Given the description of an element on the screen output the (x, y) to click on. 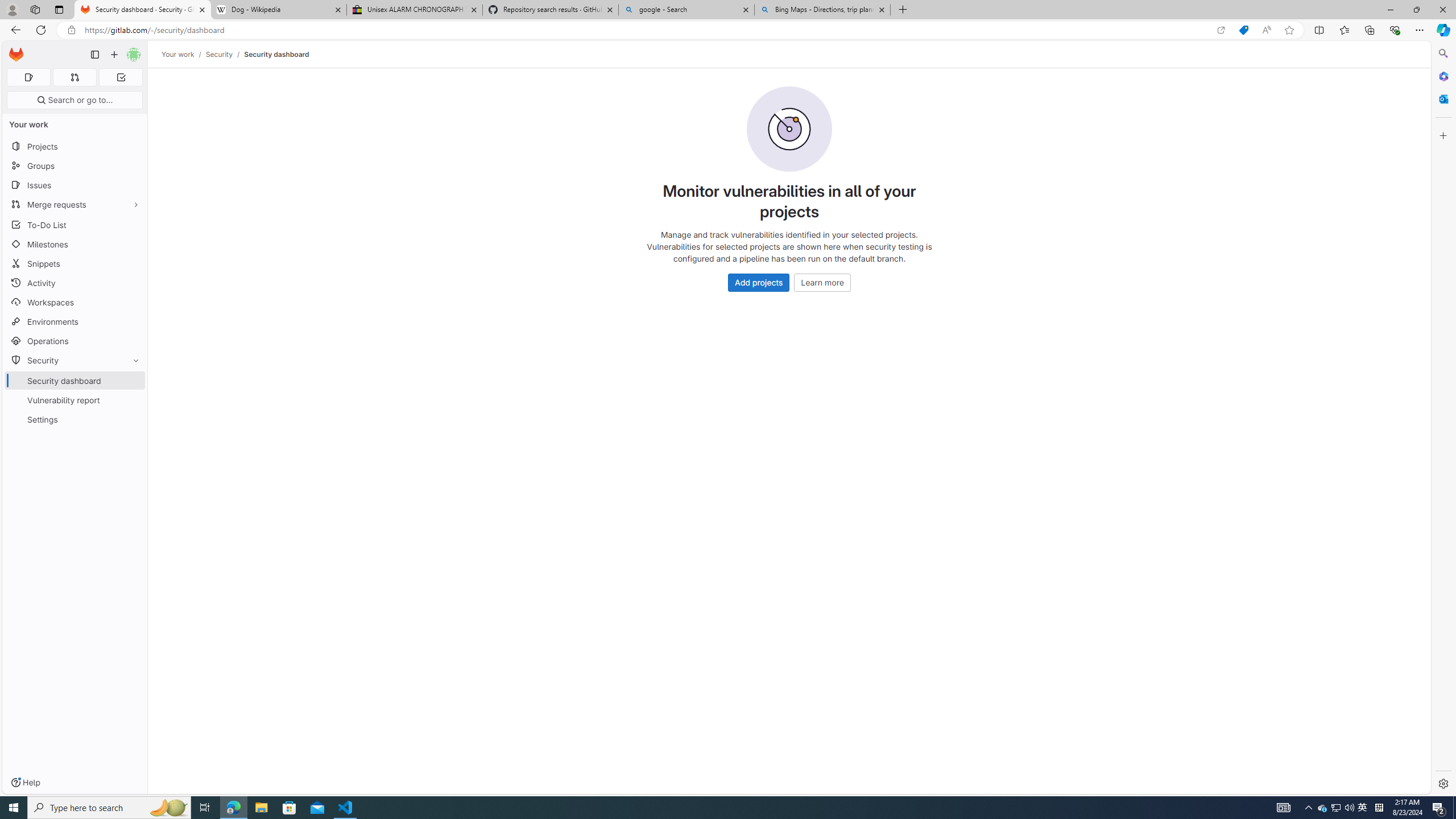
Security/ (224, 53)
Add projects (759, 282)
Merge requests (74, 203)
Issues (74, 185)
Assigned issues 0 (28, 76)
Primary navigation sidebar (94, 54)
SecuritySecurity dashboardVulnerability reportSettings (74, 389)
Groups (74, 165)
Projects (74, 145)
